Given the description of an element on the screen output the (x, y) to click on. 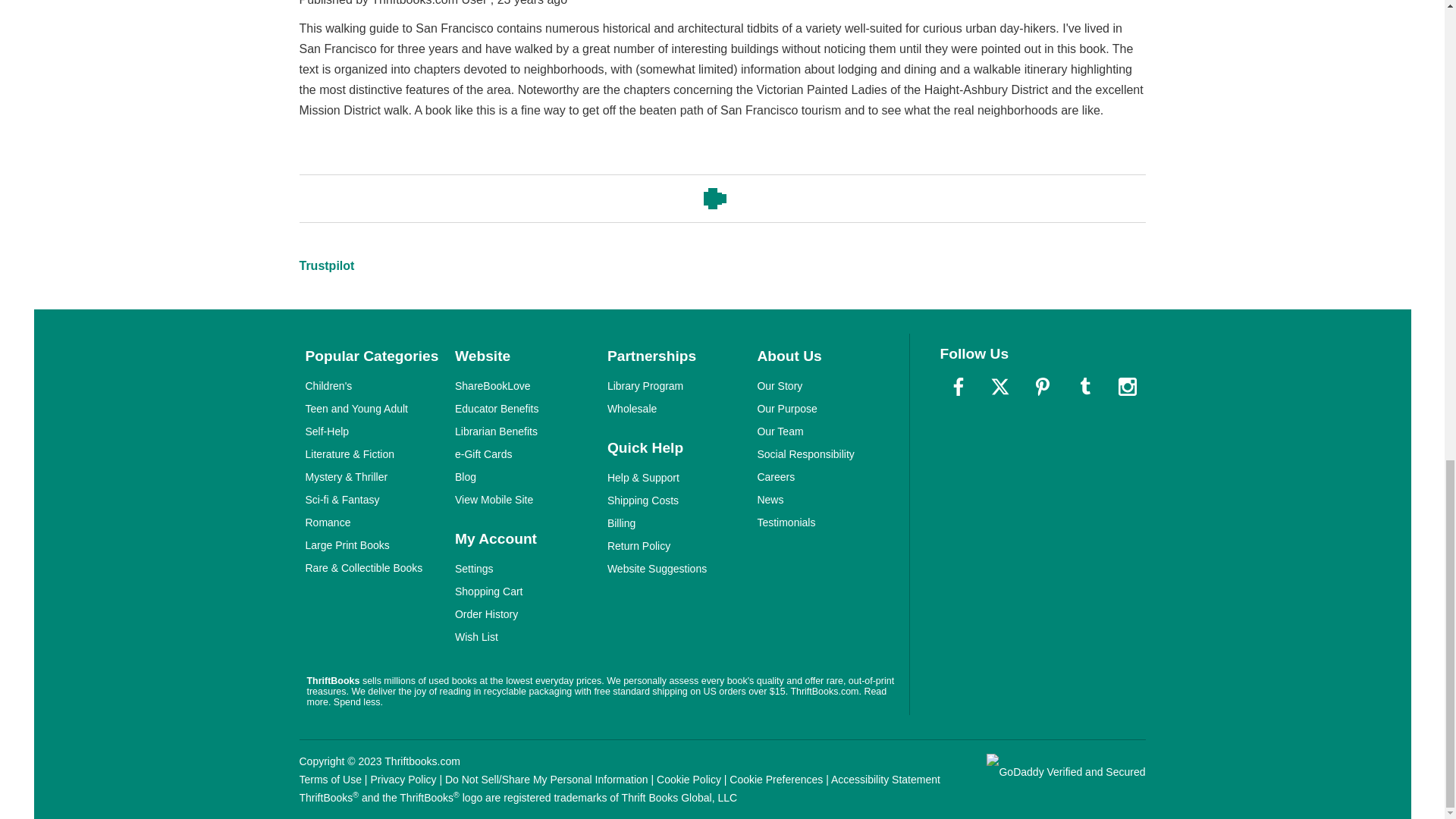
Follow us on Tumblr (1085, 386)
Follow us on Twitter (999, 386)
Follow us on Pinterest (1043, 386)
Follow us on Instagram (1126, 386)
Like us on Facebook (958, 386)
